Given the description of an element on the screen output the (x, y) to click on. 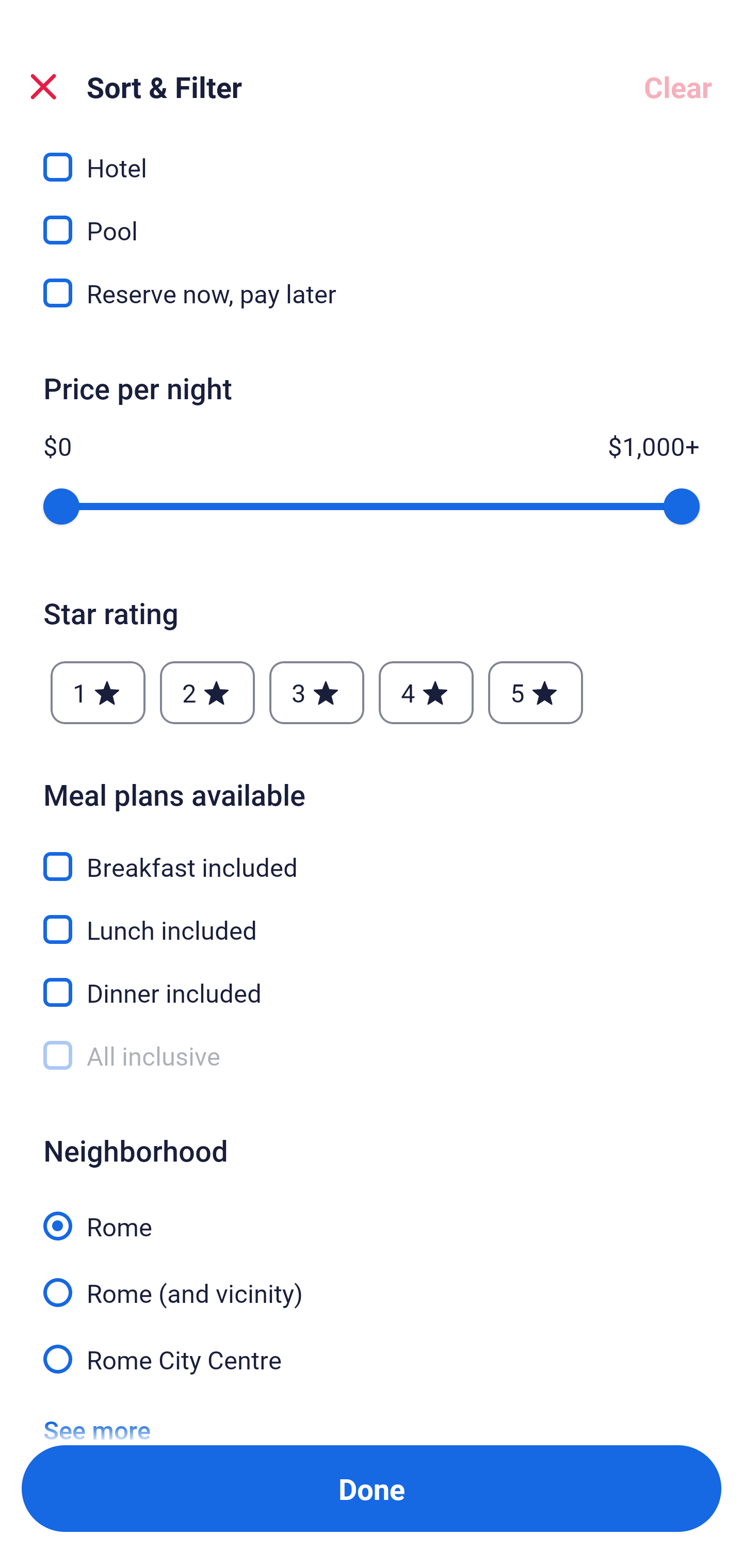
Close Sort and Filter (43, 86)
Clear (677, 86)
Hotel, Hotel (371, 158)
Pool, Pool (371, 218)
Reserve now, pay later, Reserve now, pay later (371, 293)
1 (97, 692)
2 (206, 692)
3 (316, 692)
4 (426, 692)
5 (535, 692)
Breakfast included, Breakfast included (371, 854)
Lunch included, Lunch included (371, 917)
Dinner included, Dinner included (371, 981)
All inclusive, All inclusive (371, 1055)
Rome (and vicinity) (371, 1280)
Rome City Centre (371, 1357)
See more See more neighborhoods Link (96, 1415)
Apply and close Sort and Filter Done (371, 1488)
